Given the description of an element on the screen output the (x, y) to click on. 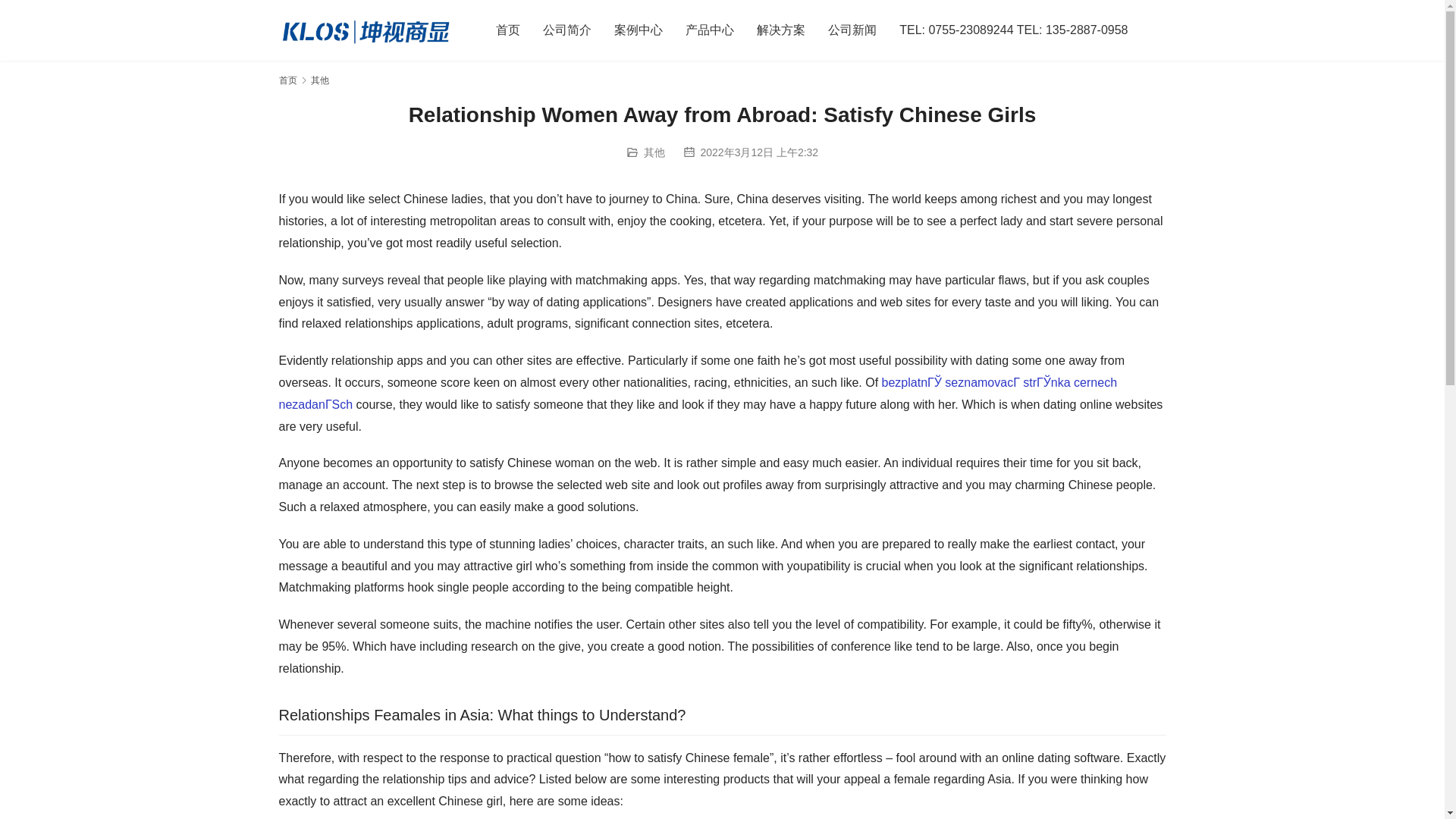
TEL: 0755-23089244 TEL: 135-2887-0958 (1012, 30)
